Given the description of an element on the screen output the (x, y) to click on. 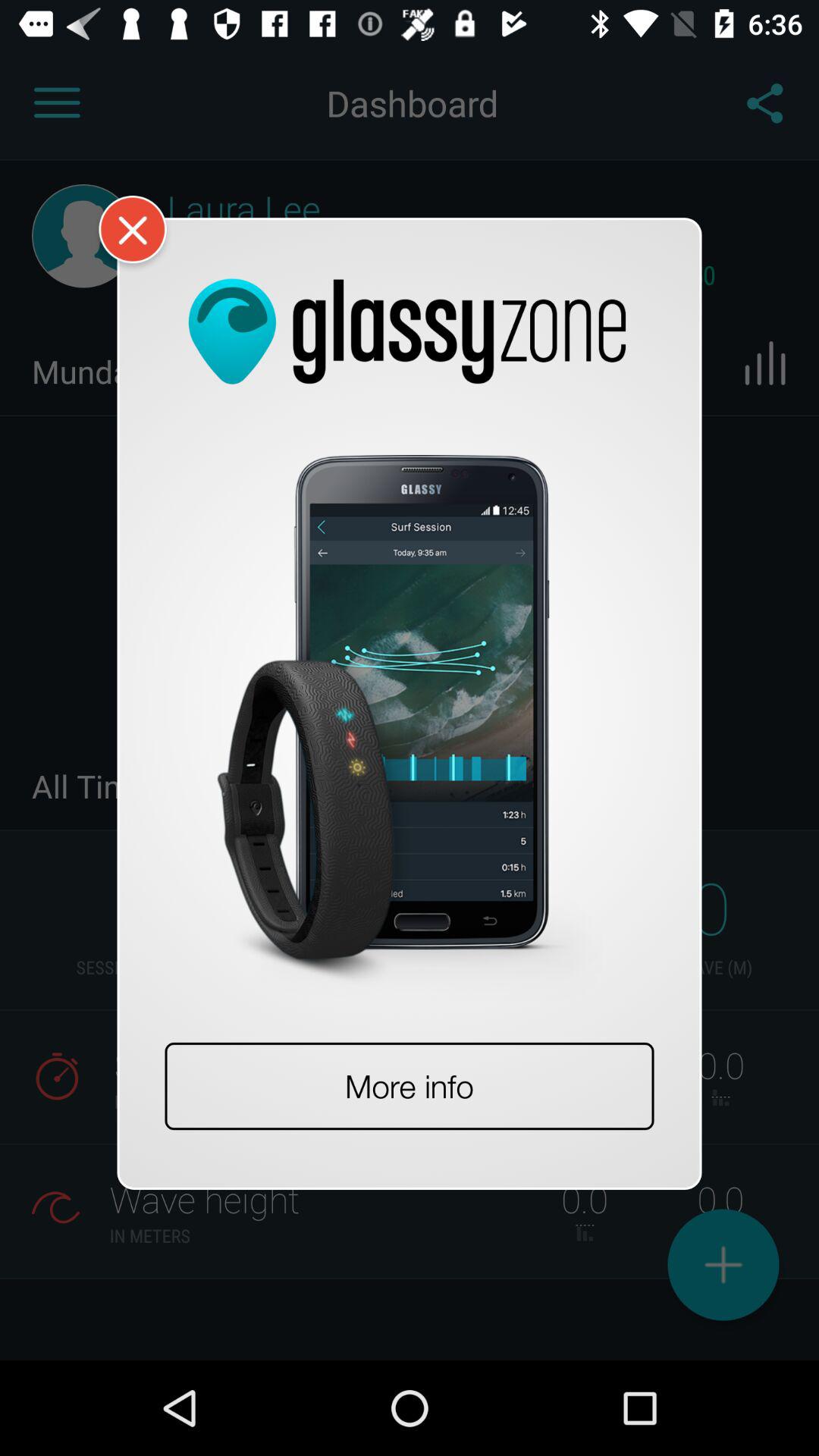
launch the more info icon (409, 1086)
